Given the description of an element on the screen output the (x, y) to click on. 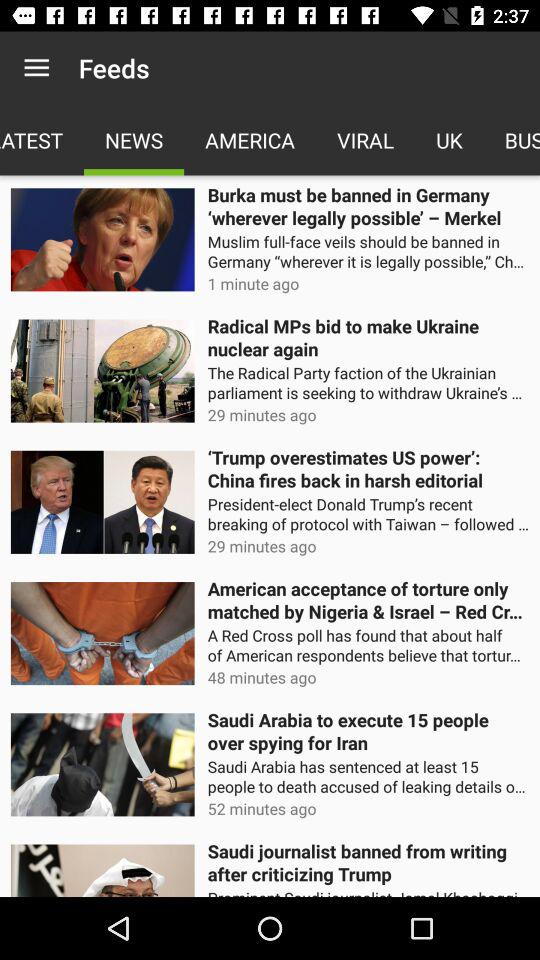
swipe until the news icon (134, 140)
